Given the description of an element on the screen output the (x, y) to click on. 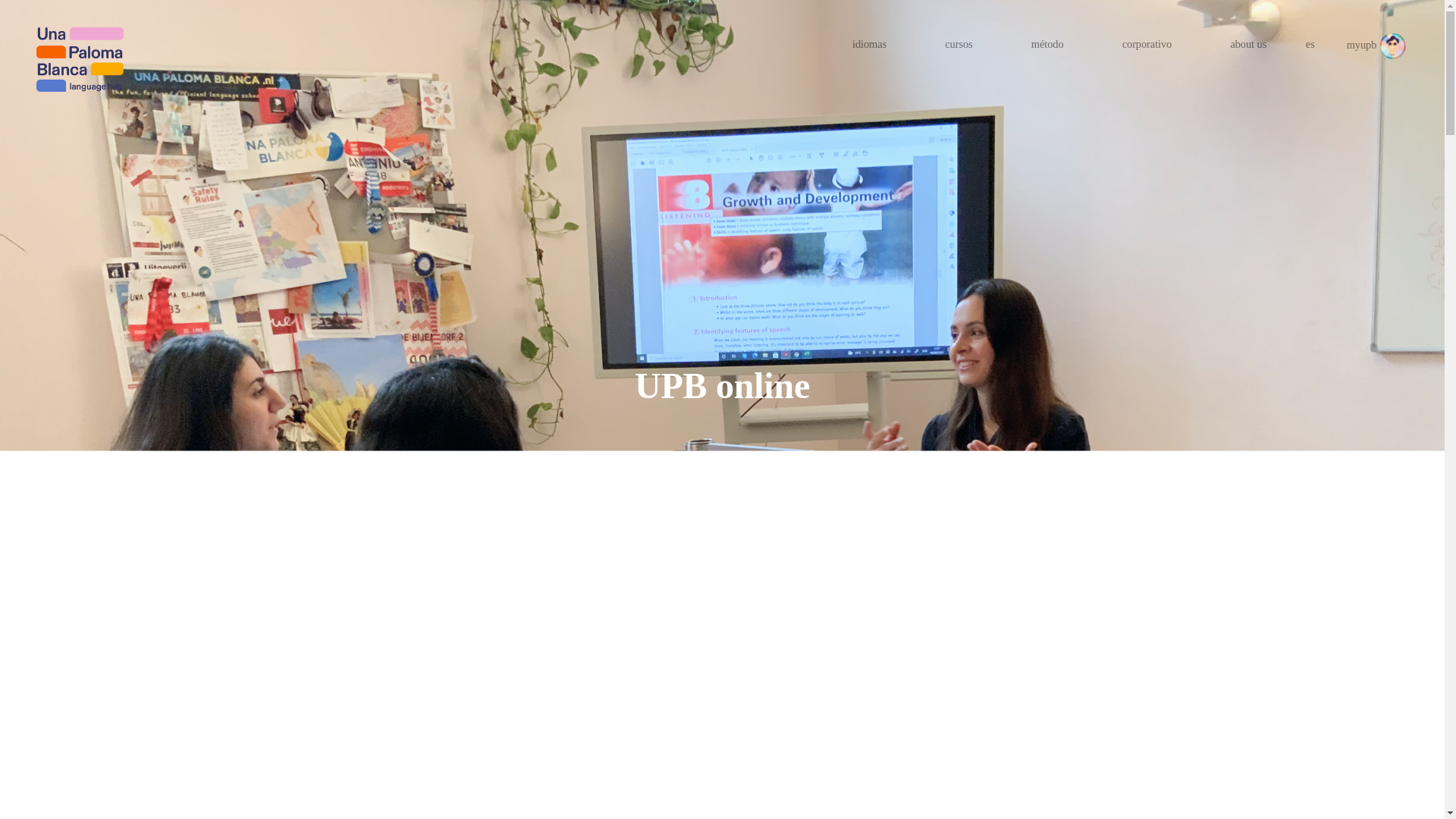
cursos (958, 44)
corporativo (1146, 44)
idiomas (868, 44)
about us (1248, 44)
